Given the description of an element on the screen output the (x, y) to click on. 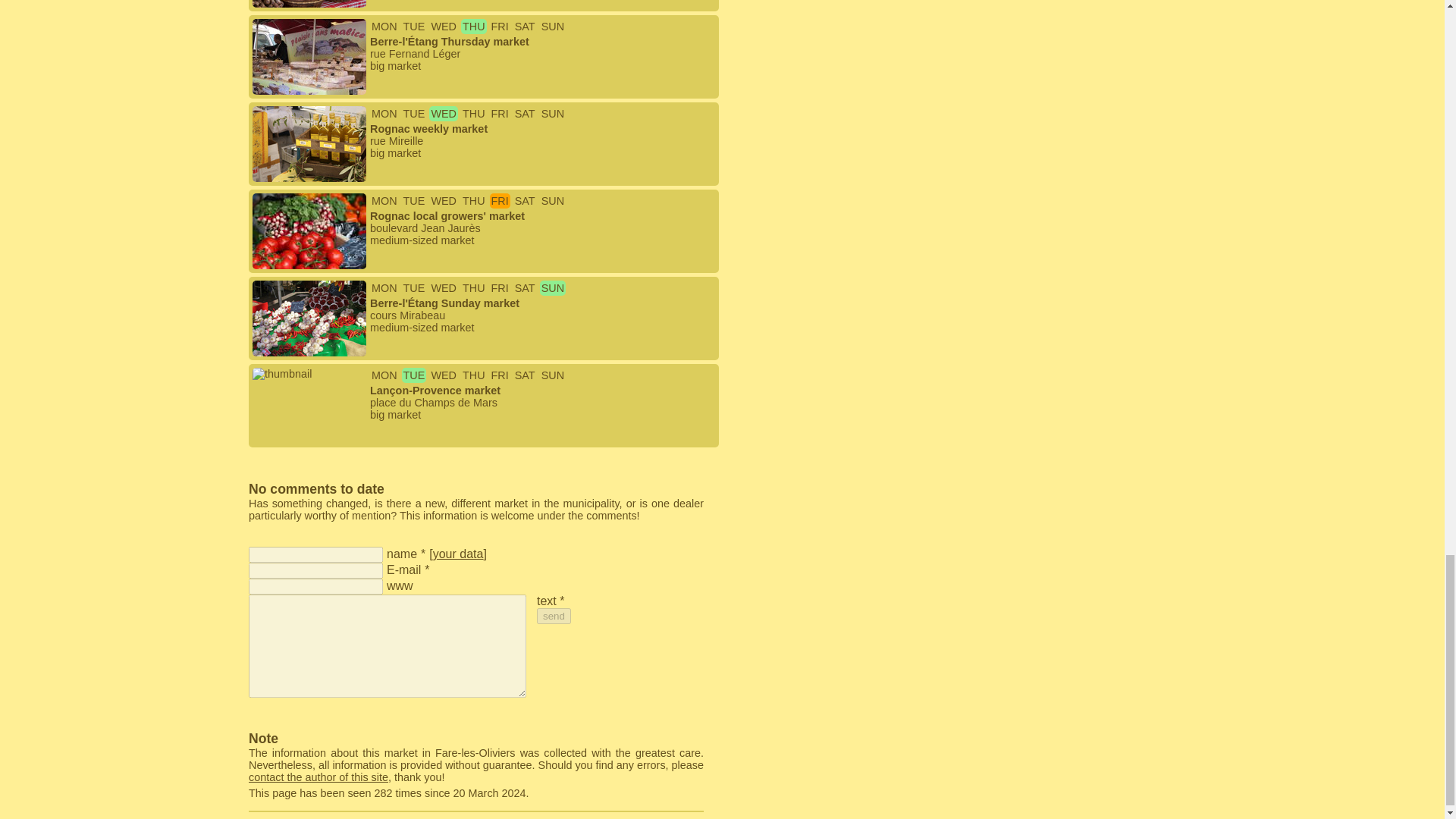
contact the author of this site (318, 776)
your data (457, 553)
send (553, 616)
